Given the description of an element on the screen output the (x, y) to click on. 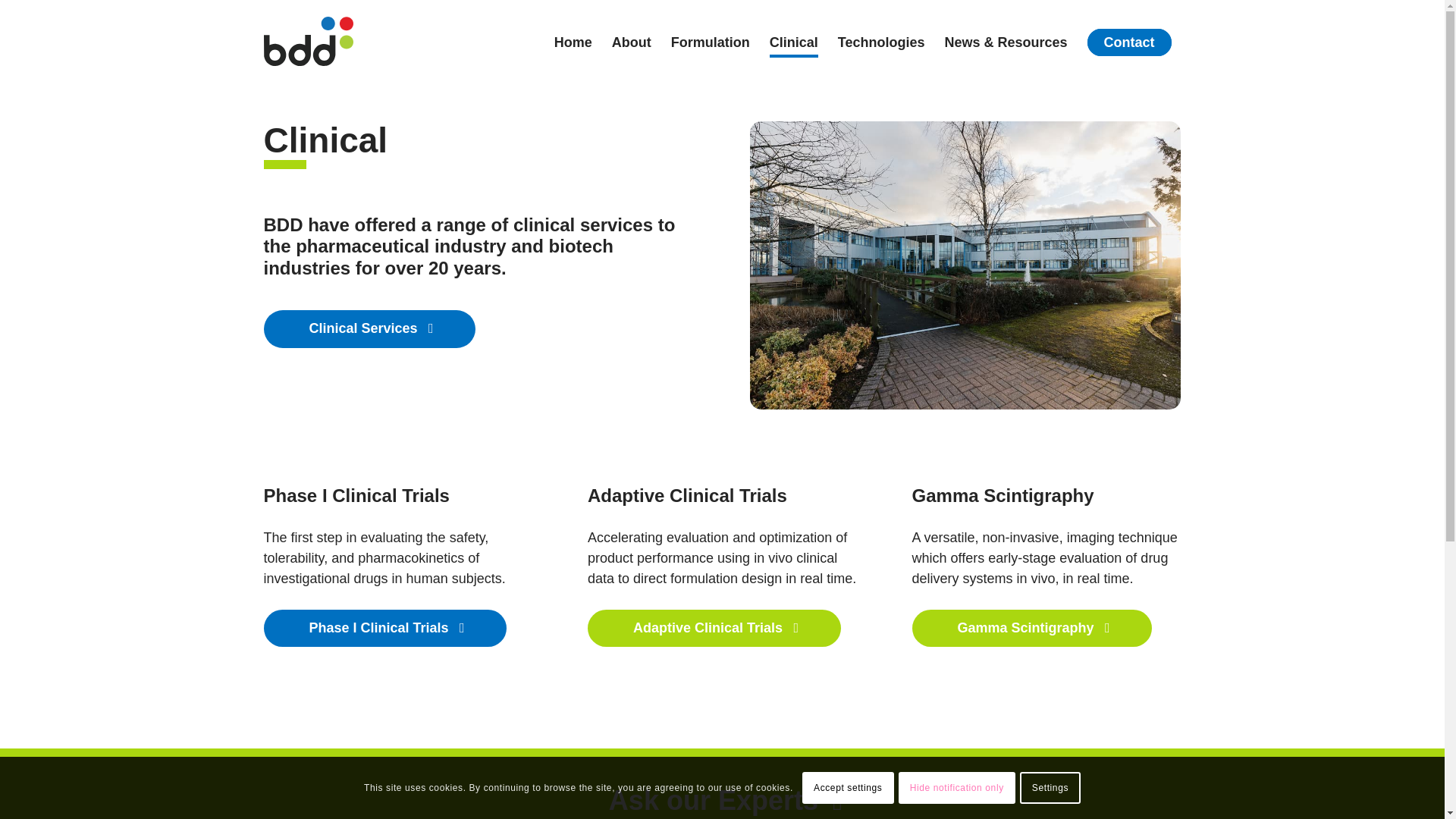
Adaptive Clinical Trials (714, 628)
Ask our Experts (721, 796)
Phase I Clinical Trials (384, 628)
Contact (1129, 42)
Gamma Scintigraphy (1032, 628)
Clinical Services (369, 329)
Formulation (710, 42)
bdd-logo-new (308, 41)
